Given the description of an element on the screen output the (x, y) to click on. 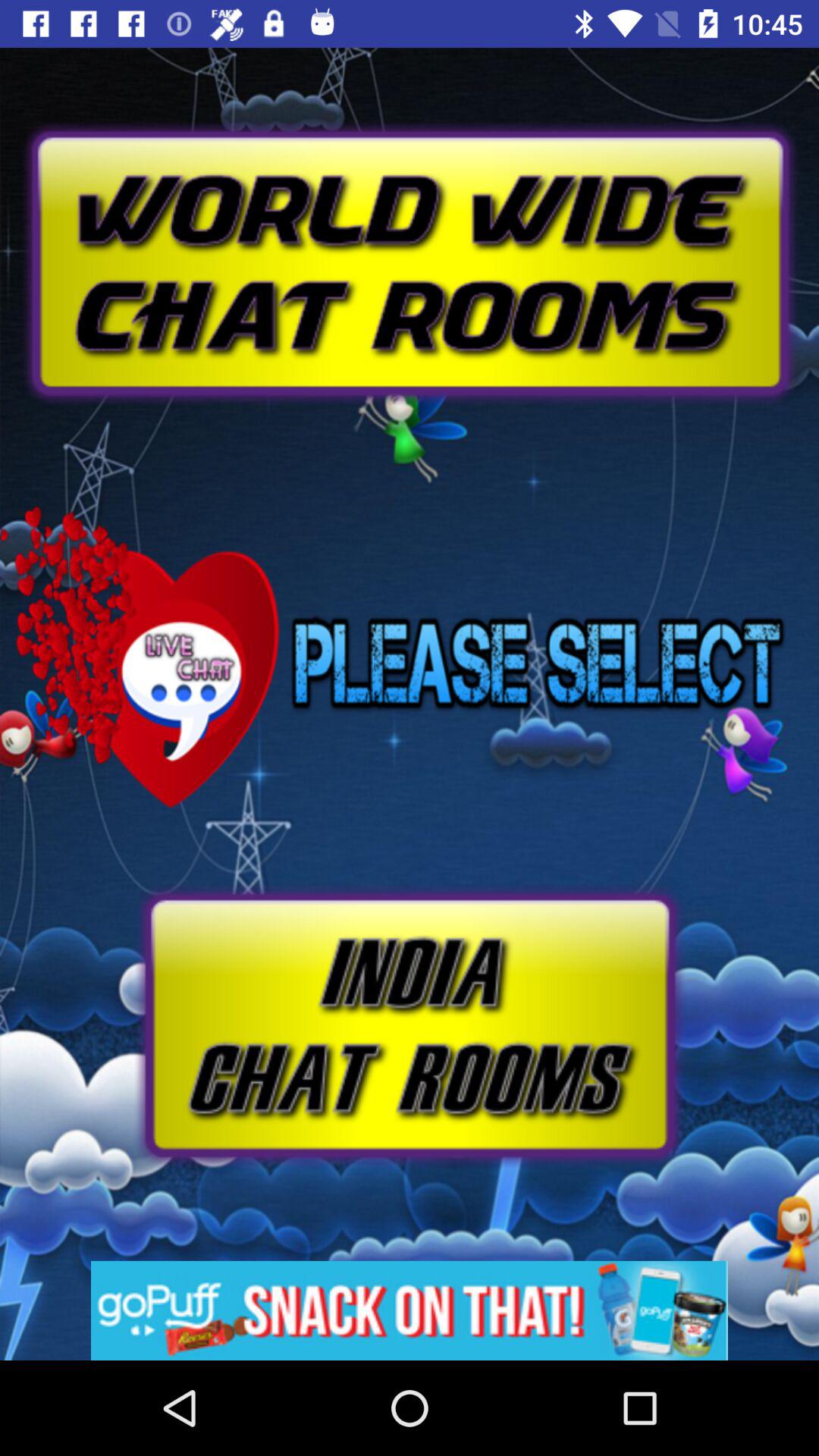
advertisement page (409, 1310)
